Given the description of an element on the screen output the (x, y) to click on. 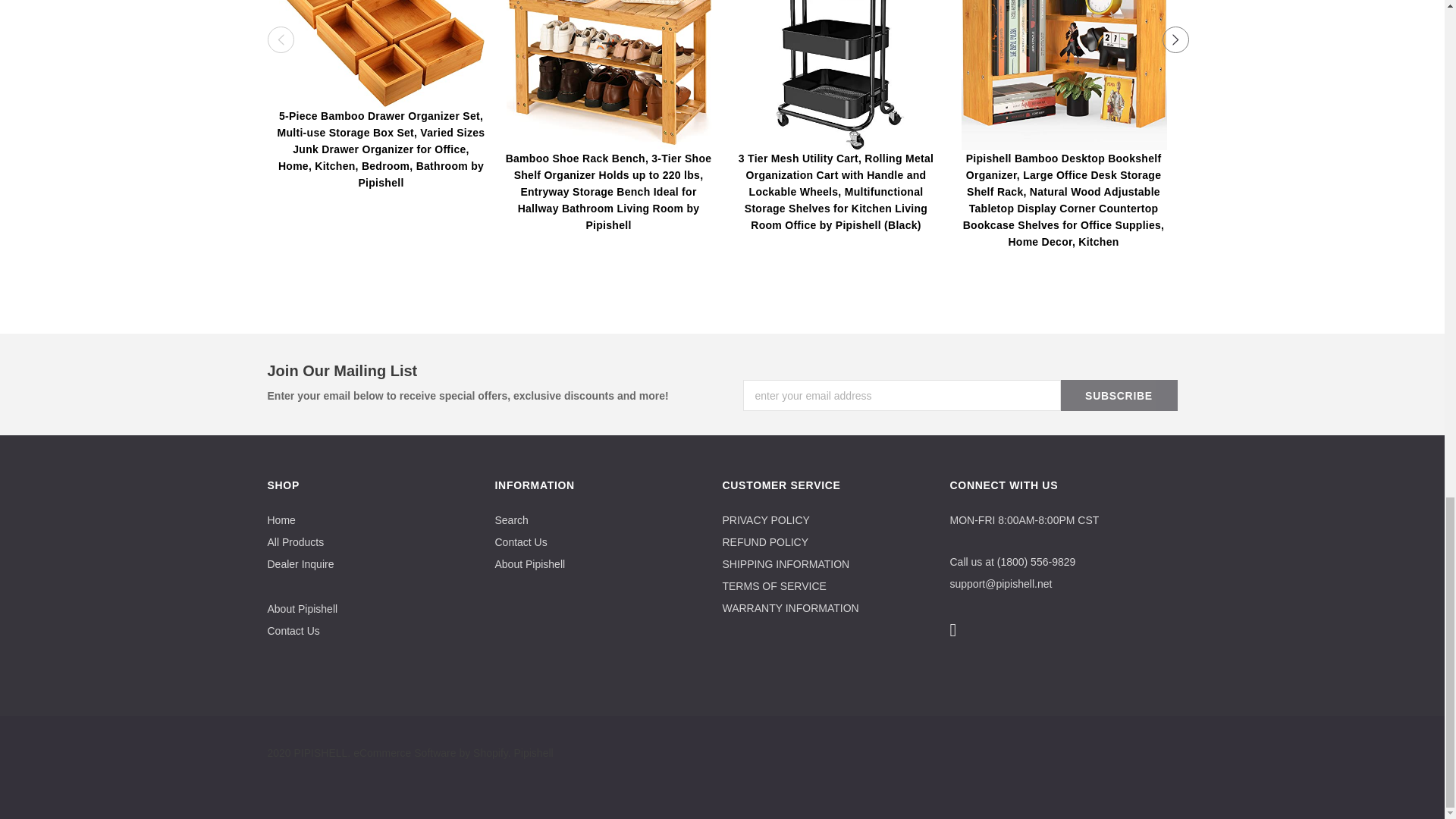
Subscribe (1117, 395)
